Given the description of an element on the screen output the (x, y) to click on. 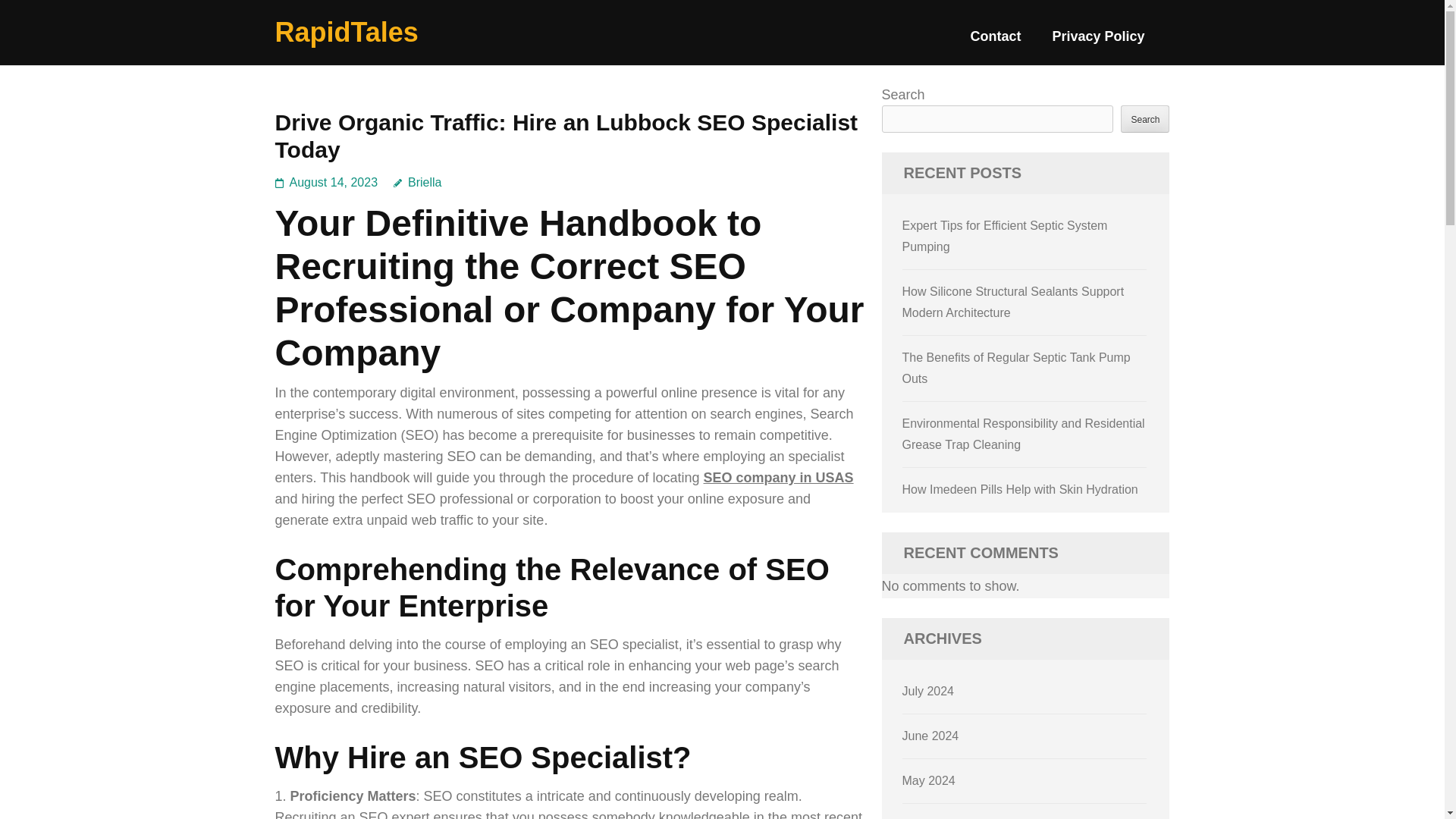
May 2024 (928, 780)
August 14, 2023 (333, 182)
Contact (994, 42)
June 2024 (930, 735)
How Silicone Structural Sealants Support Modern Architecture (1013, 302)
How Imedeen Pills Help with Skin Hydration (1020, 489)
Privacy Policy (1097, 42)
Search (1145, 118)
Expert Tips for Efficient Septic System Pumping (1005, 236)
The Benefits of Regular Septic Tank Pump Outs (1016, 367)
RapidTales (346, 31)
Briella (417, 182)
SEO company in USAS (778, 477)
July 2024 (928, 690)
